Given the description of an element on the screen output the (x, y) to click on. 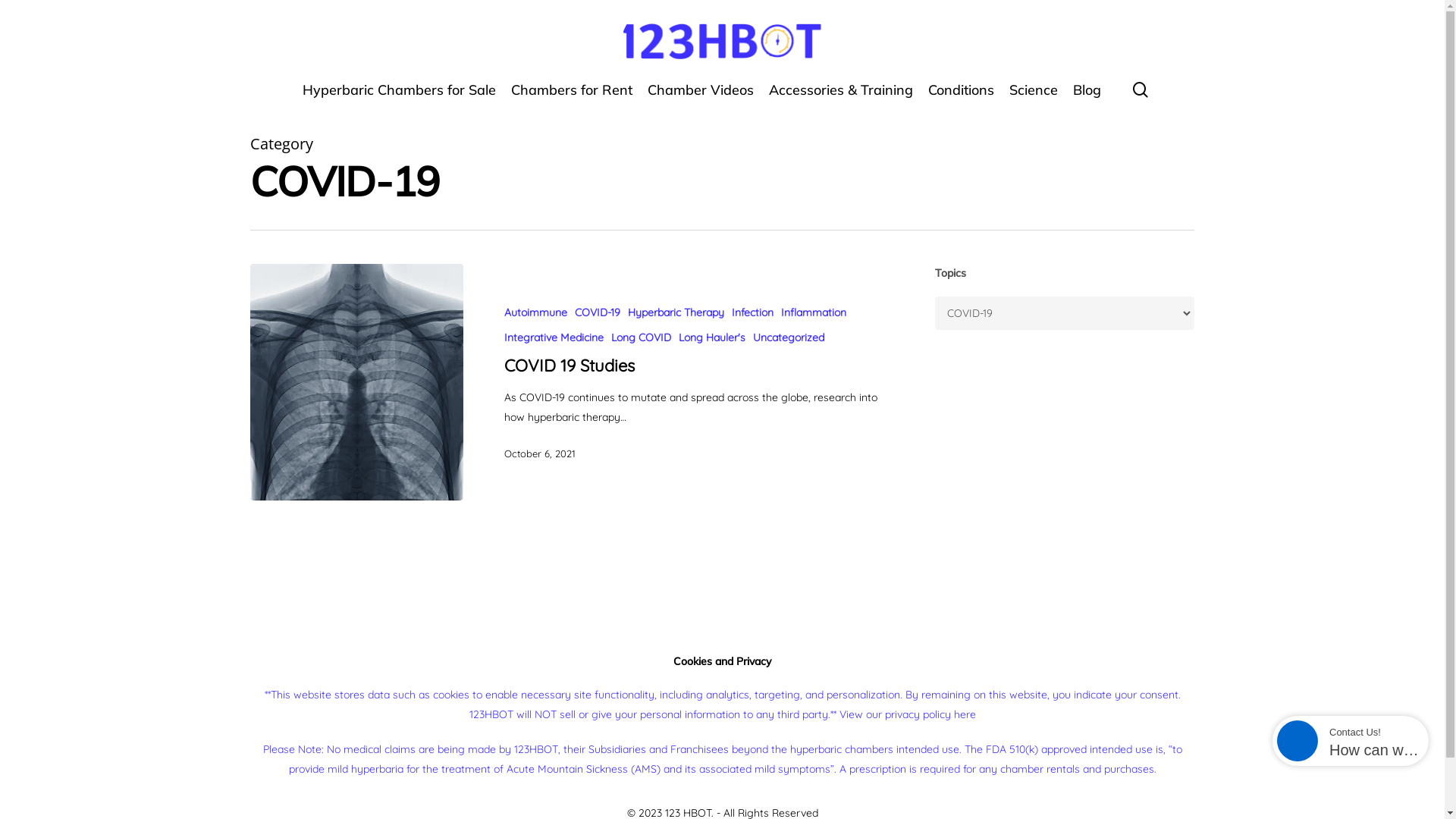
Chambers for Rent Element type: text (571, 97)
Long COVID Element type: text (641, 337)
search Element type: text (1140, 89)
Science Element type: text (1033, 97)
Hyperbaric Therapy Element type: text (675, 312)
Autoimmune Element type: text (535, 312)
Infection Element type: text (752, 312)
View our privacy policy here Element type: text (906, 714)
Conditions Element type: text (961, 97)
Accessories & Training Element type: text (840, 97)
COVID-19 Element type: text (597, 312)
Hyperbaric Chambers for Sale Element type: text (398, 97)
Blog Element type: text (1087, 97)
COVID 19 Studies Element type: text (569, 365)
Uncategorized Element type: text (788, 337)
Chamber Videos Element type: text (700, 97)
Inflammation Element type: text (813, 312)
Integrative Medicine Element type: text (553, 337)
Long Hauler's Element type: text (711, 337)
